Given the description of an element on the screen output the (x, y) to click on. 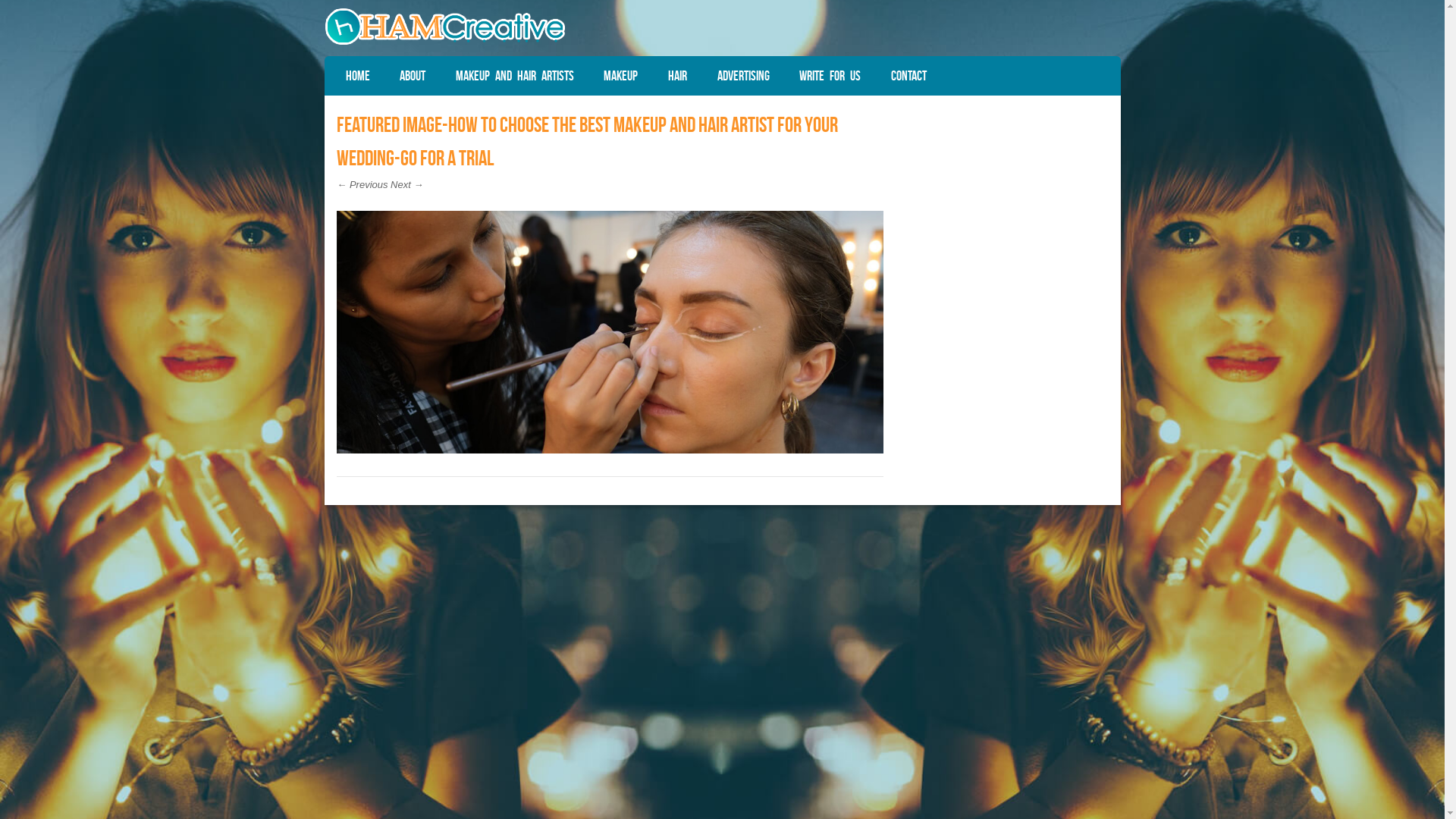
MAKEUP Element type: text (621, 75)
WRITE FOR US Element type: text (829, 75)
ADVERTISING Element type: text (743, 75)
ABOUT Element type: text (412, 75)
HAM Creative Element type: hover (444, 41)
SKIP TO CONTENT Element type: text (371, 71)
HOME Element type: text (357, 75)
HAIR Element type: text (677, 75)
MAKEUP AND HAIR ARTISTS Element type: text (514, 75)
CONTACT Element type: text (908, 75)
